Given the description of an element on the screen output the (x, y) to click on. 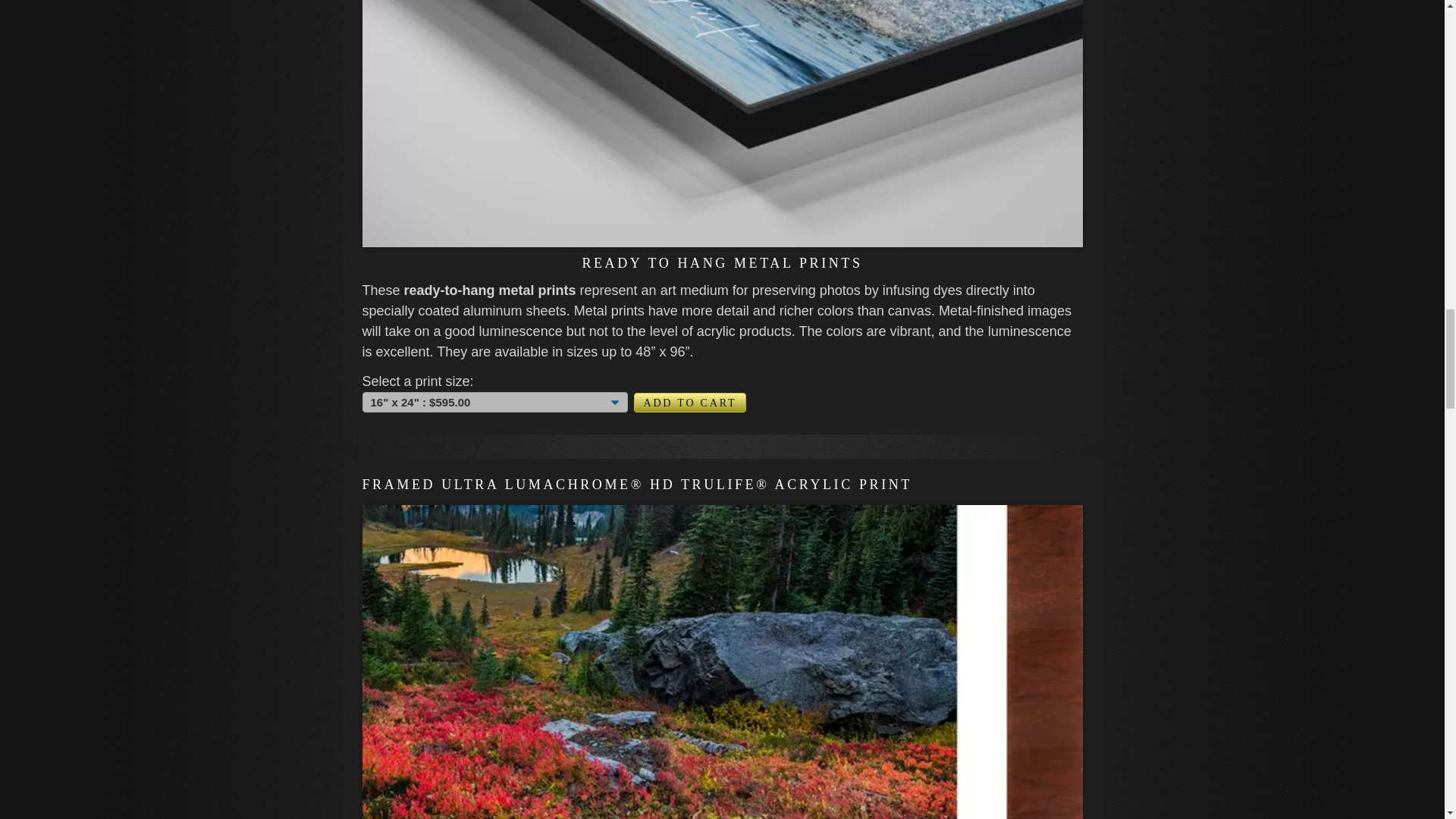
ADD TO CART (689, 402)
